Given the description of an element on the screen output the (x, y) to click on. 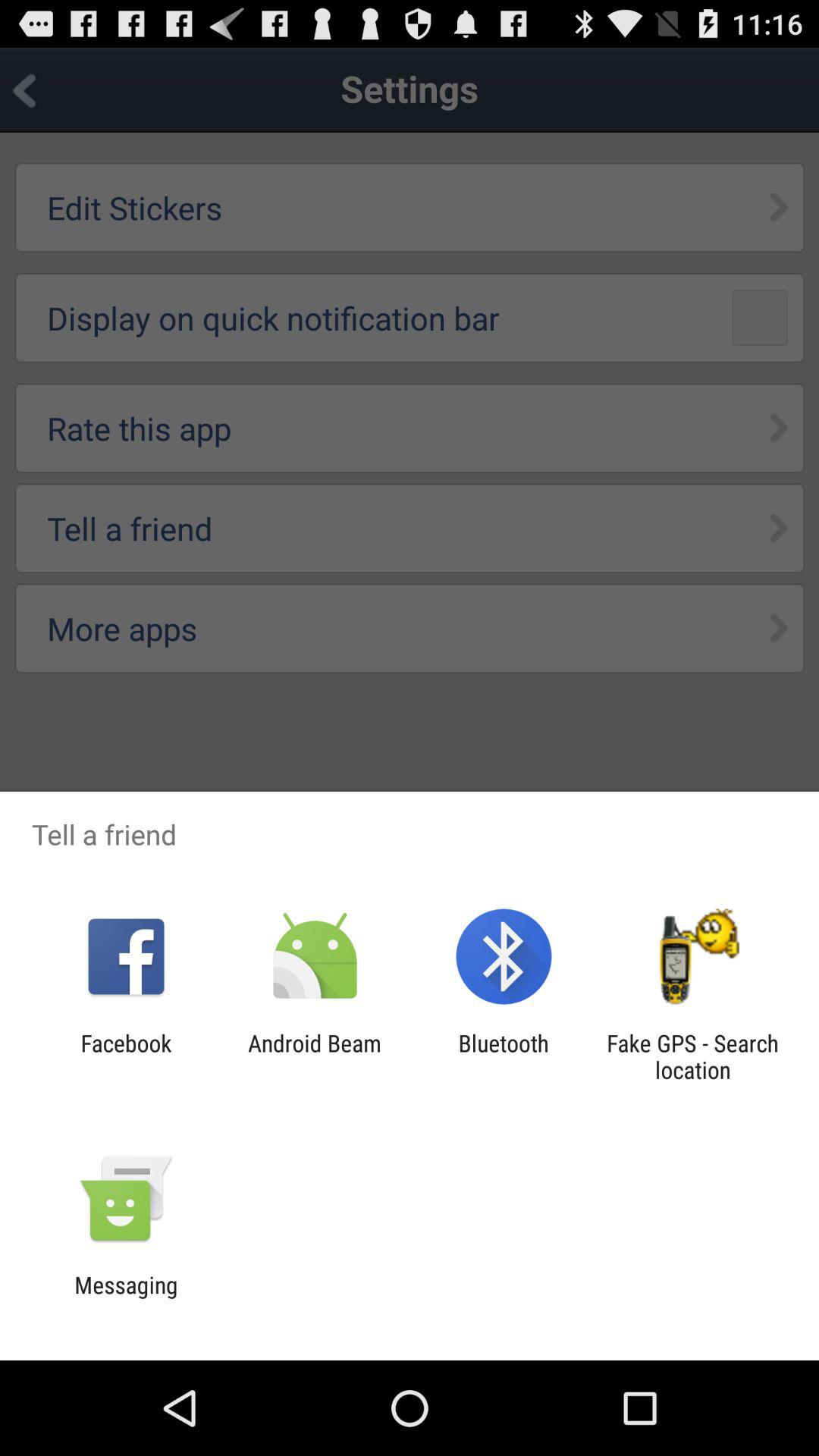
launch the app next to fake gps search item (503, 1056)
